Given the description of an element on the screen output the (x, y) to click on. 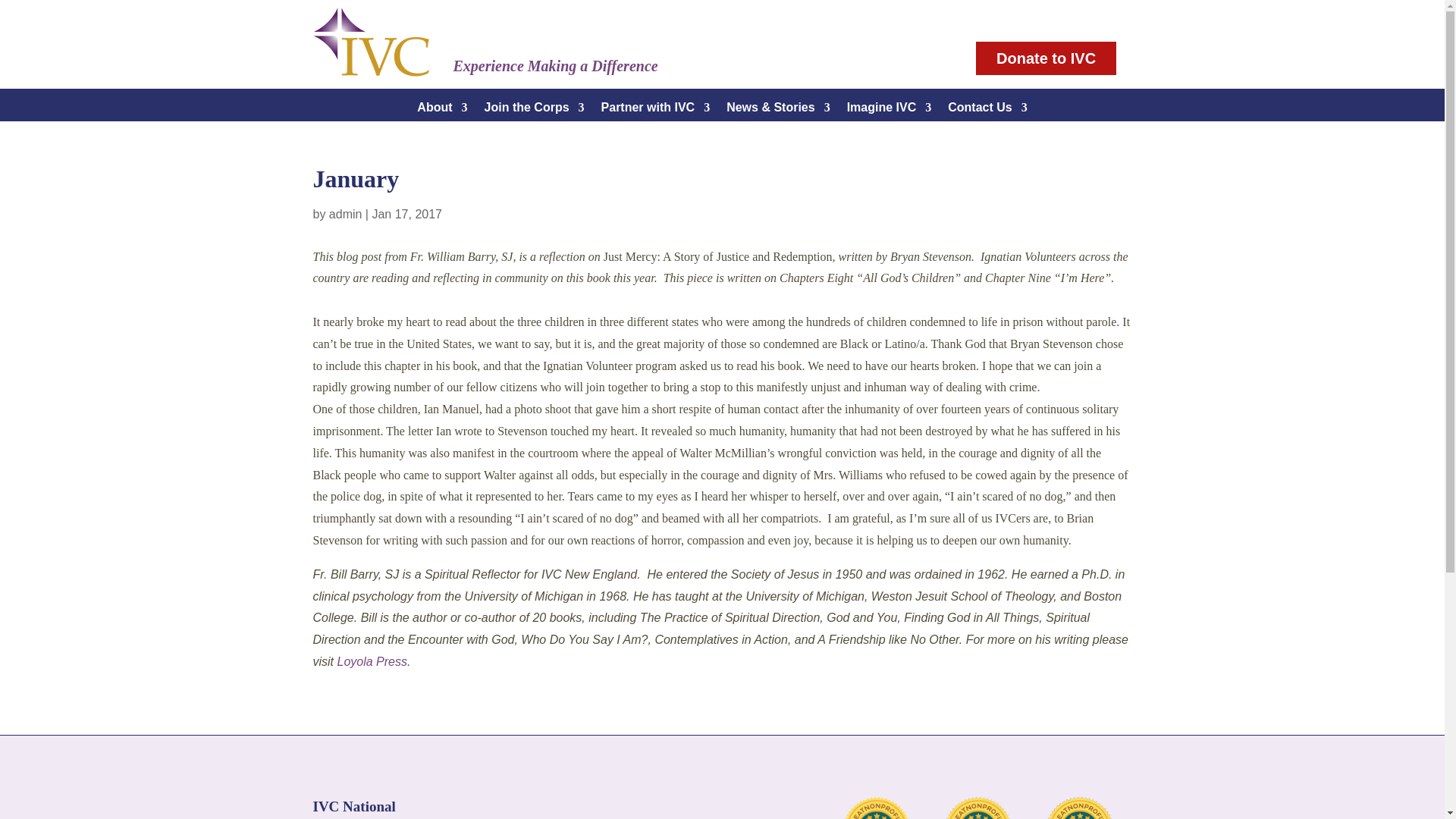
2020-top-rated-awards-badge-hi-res (978, 807)
Posts by admin (345, 214)
About (441, 110)
Join the Corps (534, 110)
2019-top-rated-awards-badge-hi-res (1078, 807)
Contact Us (986, 110)
Donate to IVC (1045, 58)
Partner with IVC (655, 110)
ivc-logo (371, 41)
2021-top-rated-awards-badge-embed (876, 807)
